Given the description of an element on the screen output the (x, y) to click on. 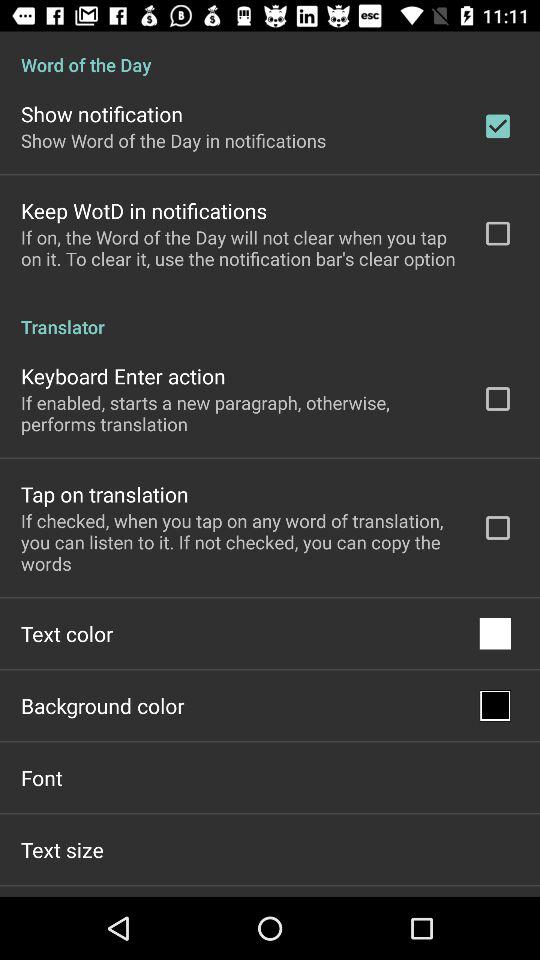
flip to the keyboard enter action (123, 375)
